Given the description of an element on the screen output the (x, y) to click on. 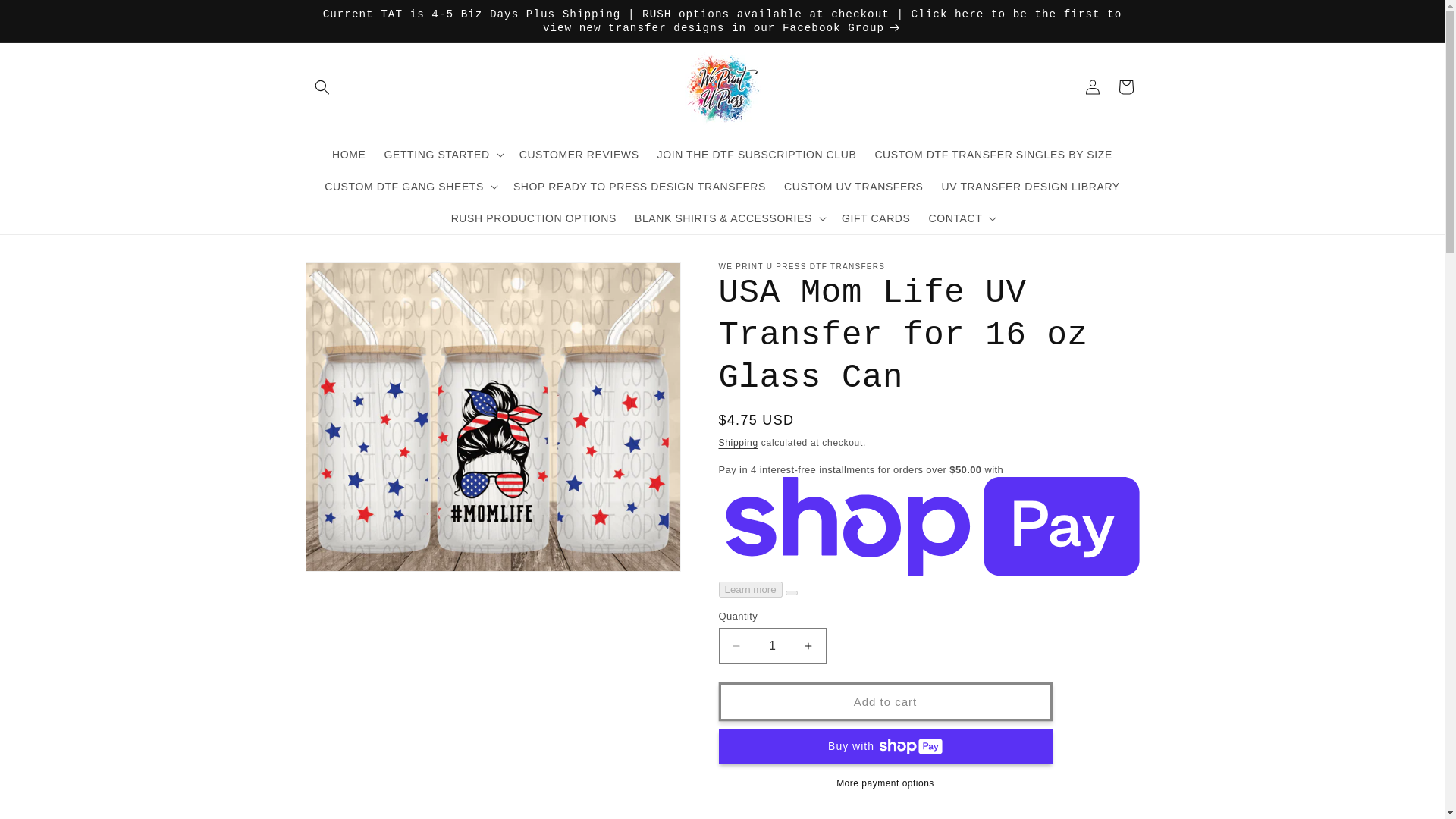
Skip to content (47, 18)
Open media 1 in modal (491, 416)
1 (773, 645)
